Given the description of an element on the screen output the (x, y) to click on. 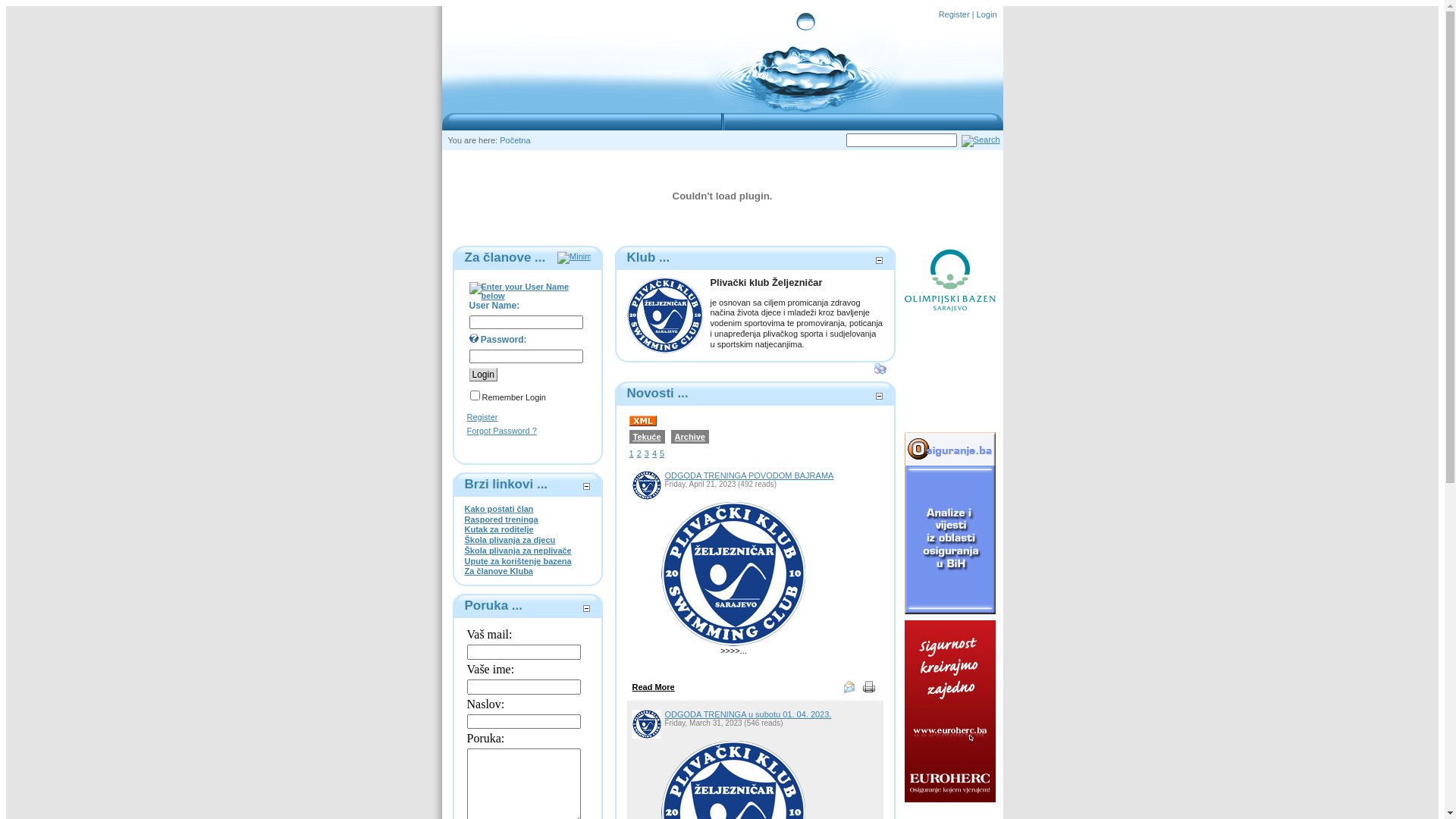
Minimize Element type: hover (877, 257)
Minimize Element type: hover (877, 393)
ODGODA TRENINGA POVODOM BAJRAMA Element type: text (748, 475)
Minimize Element type: hover (584, 608)
2 Element type: text (639, 453)
Register Element type: text (482, 416)
Enter your Password below Element type: hover (472, 337)
Login Element type: text (482, 374)
eMail Link Element type: hover (848, 686)
Print Element type: hover (868, 686)
1 Element type: text (631, 453)
Forgot Password ? Element type: text (501, 430)
Minimize Element type: hover (584, 483)
Read More Element type: text (653, 686)
Minimize Element type: hover (877, 260)
Raspored treninga Element type: text (500, 519)
4 Element type: text (654, 453)
Minimize Element type: hover (573, 257)
Print Element type: hover (879, 368)
Minimize Element type: hover (877, 396)
Minimize Element type: hover (584, 486)
Login Element type: text (986, 13)
ODGODA TRENINGA u subotu 01. 04. 2023. Element type: text (747, 713)
5 Element type: text (661, 453)
Archive Element type: text (690, 436)
Kutak za roditelje Element type: text (498, 528)
Minimize Element type: hover (584, 605)
Enter your User Name below Element type: hover (526, 291)
3 Element type: text (646, 453)
Register Element type: text (953, 13)
Minimize Element type: hover (573, 255)
